Given the description of an element on the screen output the (x, y) to click on. 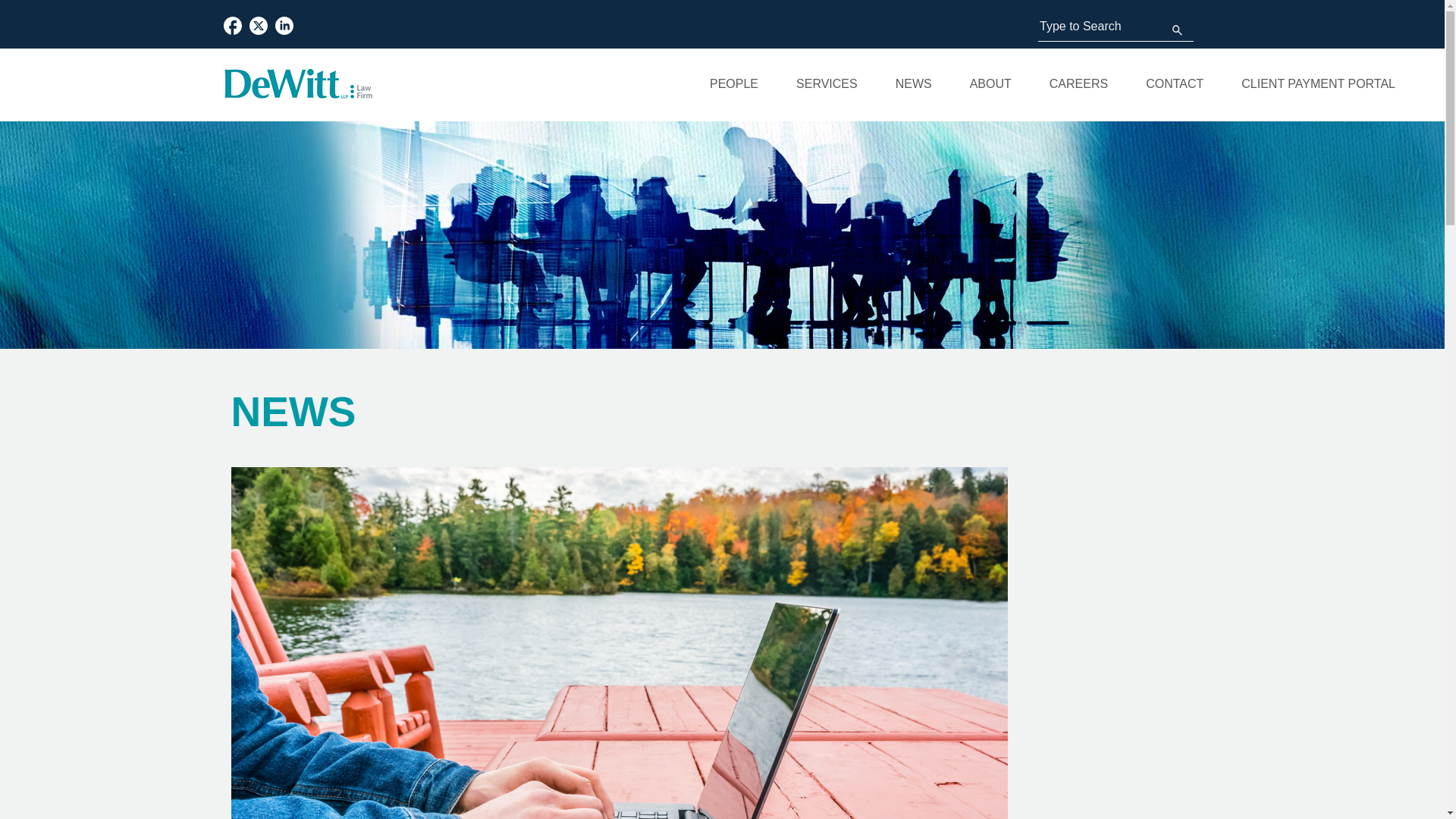
SERVICES (826, 83)
PEOPLE (734, 83)
CAREERS (1078, 83)
Search input (1115, 26)
CLIENT PAYMENT PORTAL (1318, 83)
NEWS (913, 83)
CONTACT (1174, 83)
ABOUT (990, 83)
DeWitt LLP Logo (296, 83)
